Given the description of an element on the screen output the (x, y) to click on. 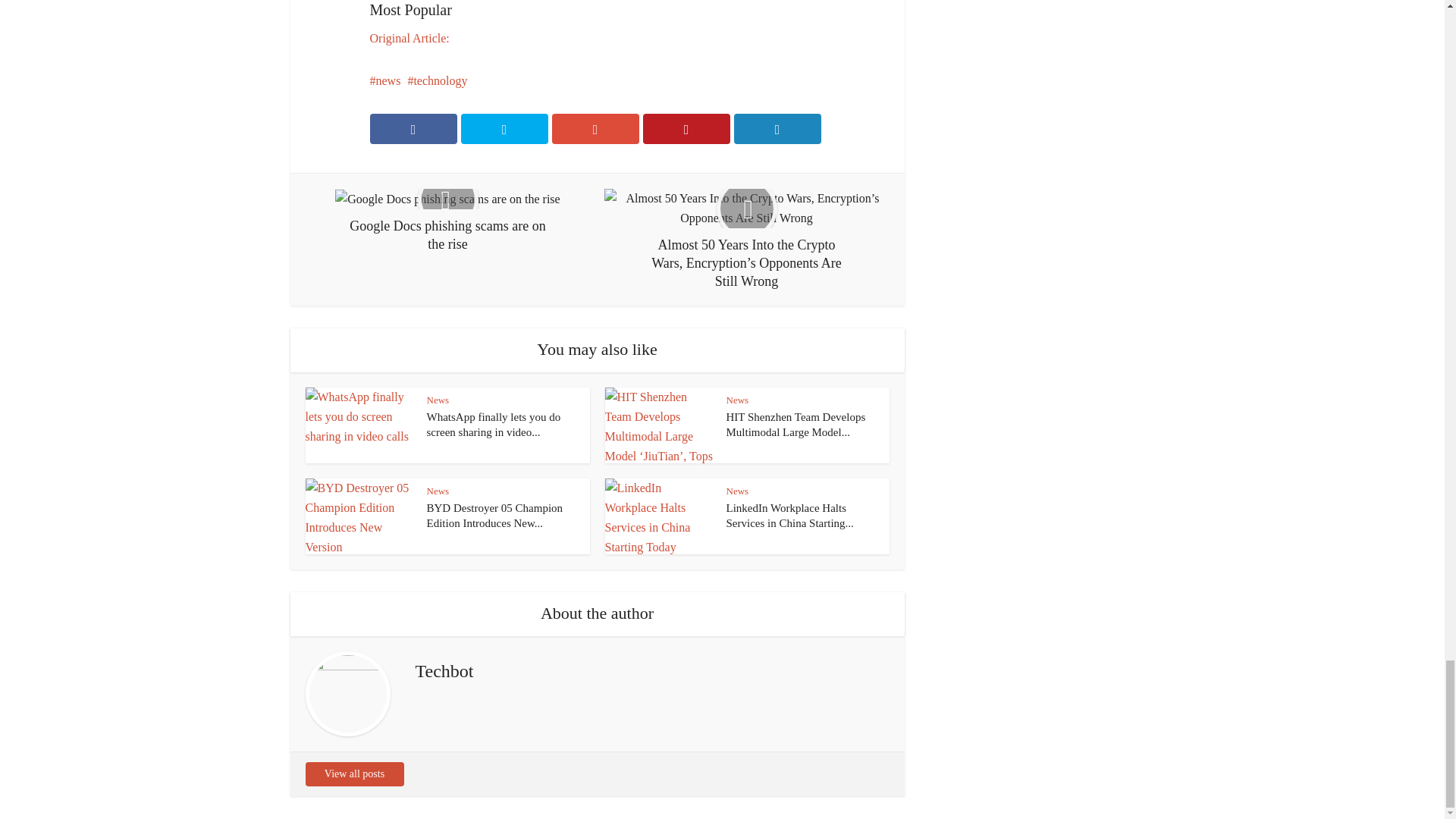
LinkedIn Workplace Halts Services in China Starting Today (789, 515)
news (385, 80)
technology (437, 80)
WhatsApp finally lets you do screen sharing in video calls (493, 424)
BYD Destroyer 05 Champion Edition Introduces New Version (494, 515)
Original Article: (409, 38)
